Given the description of an element on the screen output the (x, y) to click on. 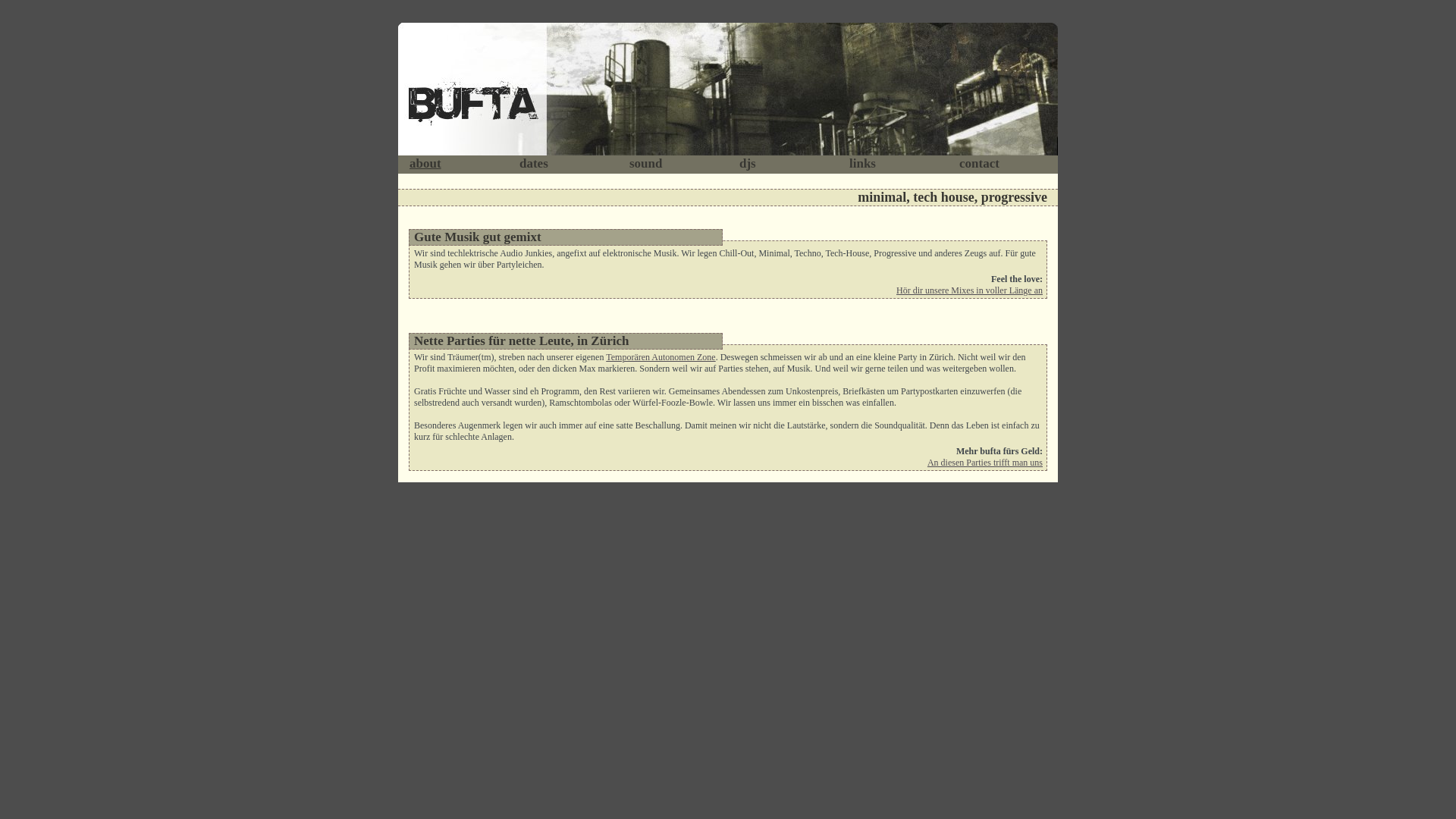
contact Element type: text (979, 163)
sound Element type: text (645, 163)
An diesen Parties trifft man uns Element type: text (984, 462)
about Element type: text (425, 163)
djs Element type: text (747, 163)
links Element type: text (862, 163)
dates Element type: text (533, 163)
